Given the description of an element on the screen output the (x, y) to click on. 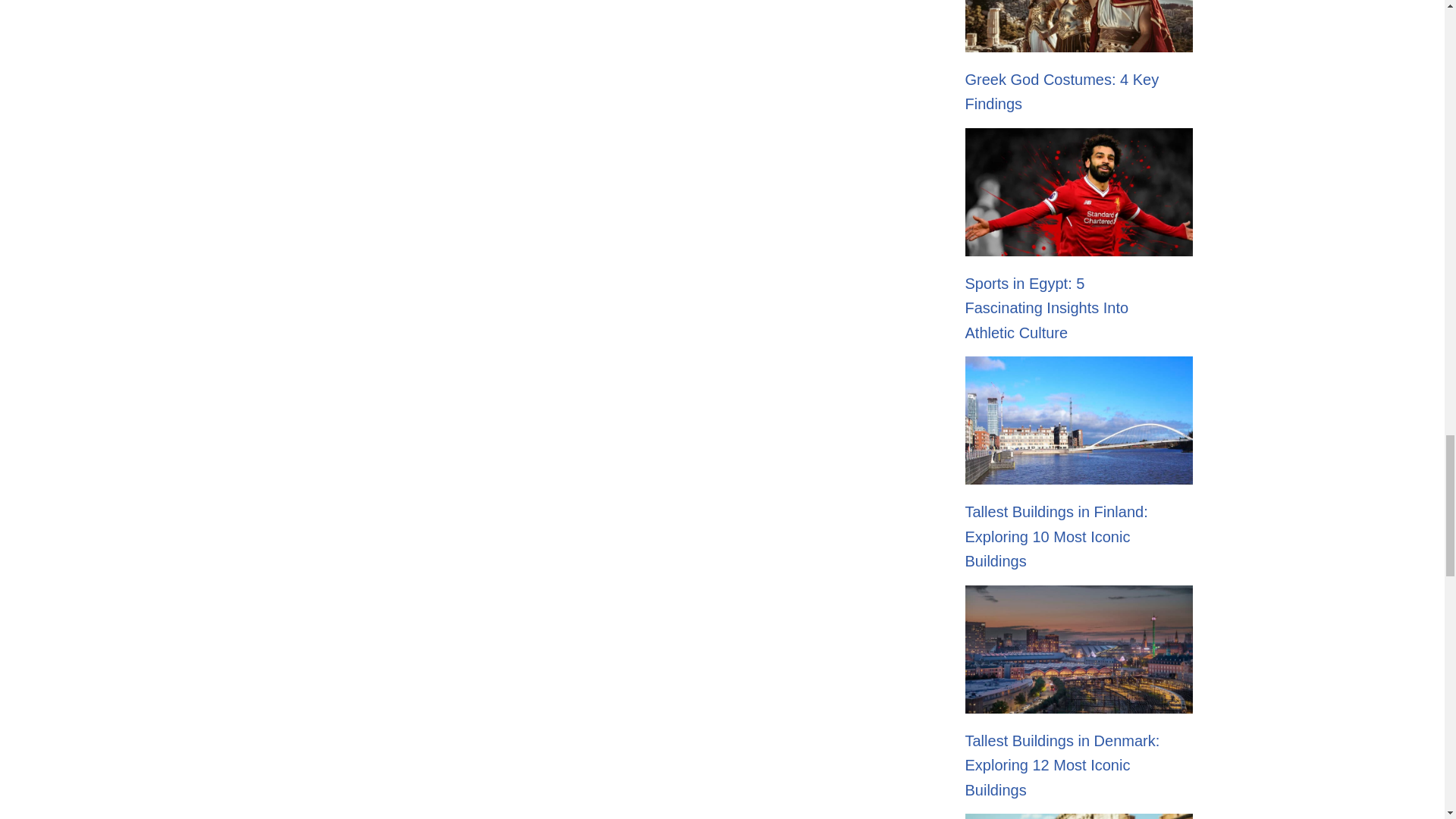
Greek God Costumes: 4 Key Findings (1060, 92)
